Given the description of an element on the screen output the (x, y) to click on. 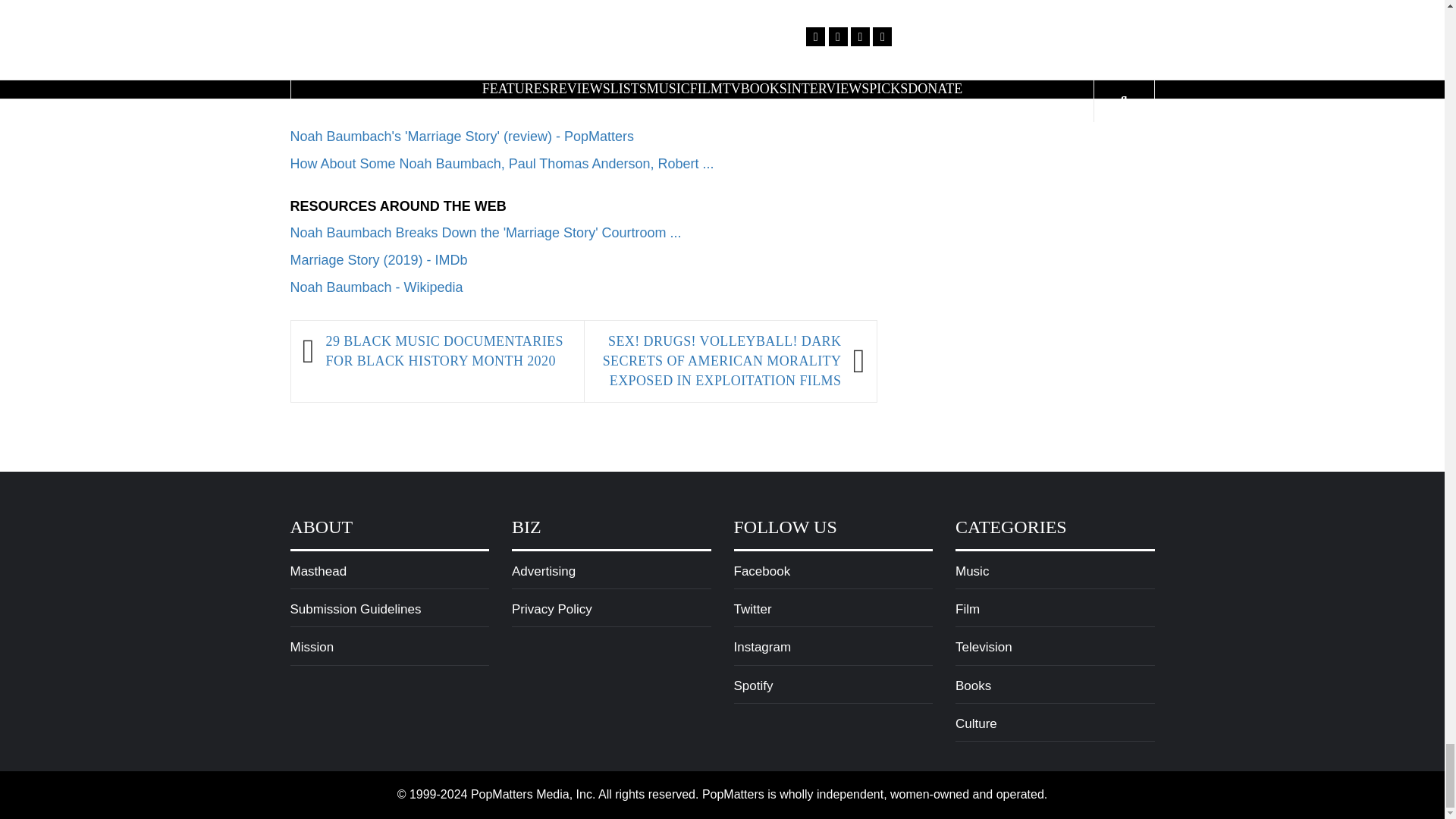
29 BLACK MUSIC DOCUMENTARIES FOR BLACK HISTORY MONTH 2020 (446, 351)
Greenberg - PopMatters (362, 55)
Margot at the Wedding - PopMatters (399, 82)
Noah Baumbach Breaks Down the 'Marriage Story' Courtroom ... (485, 232)
